Given the description of an element on the screen output the (x, y) to click on. 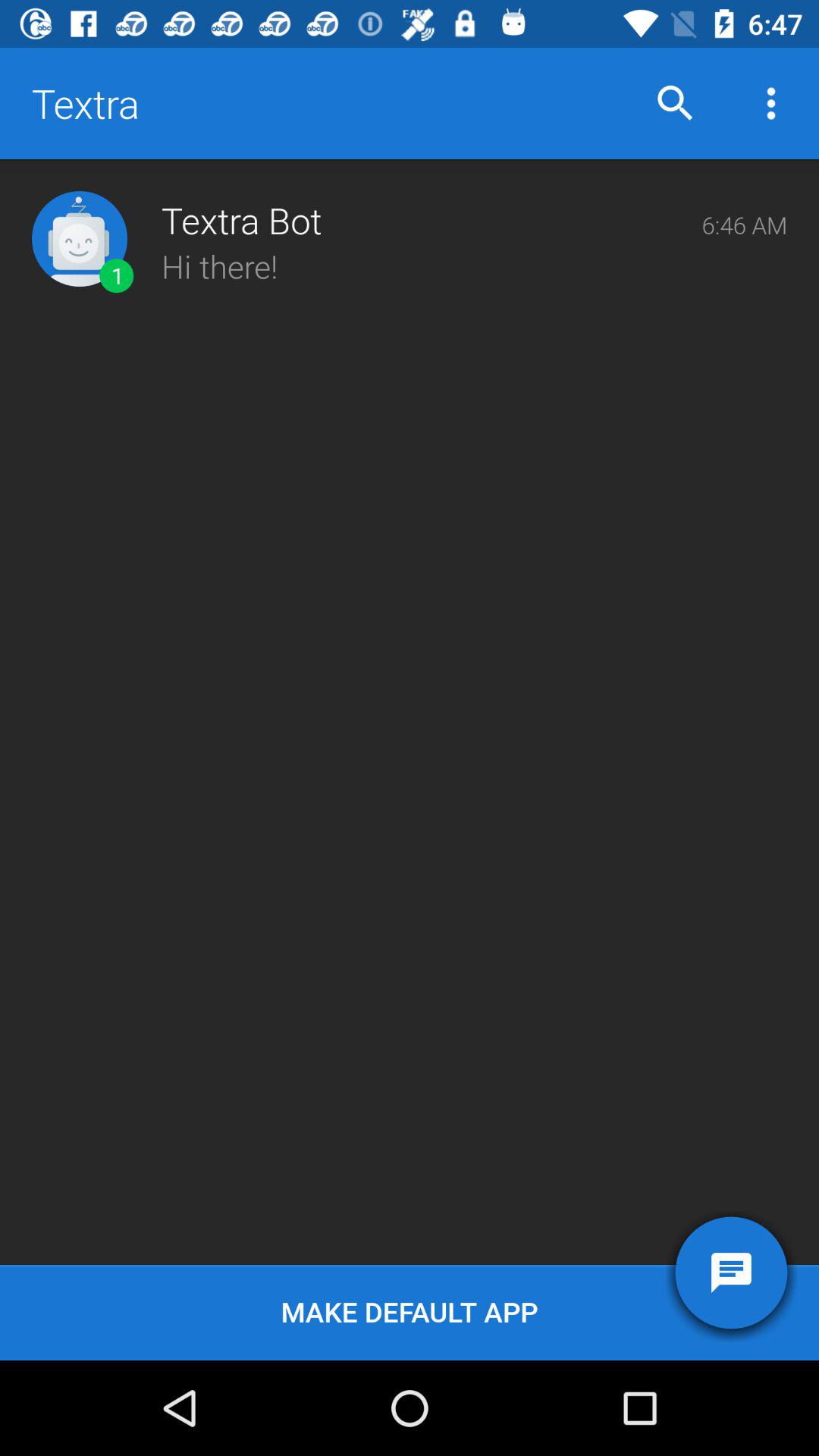
jump until the make default app icon (409, 1312)
